Given the description of an element on the screen output the (x, y) to click on. 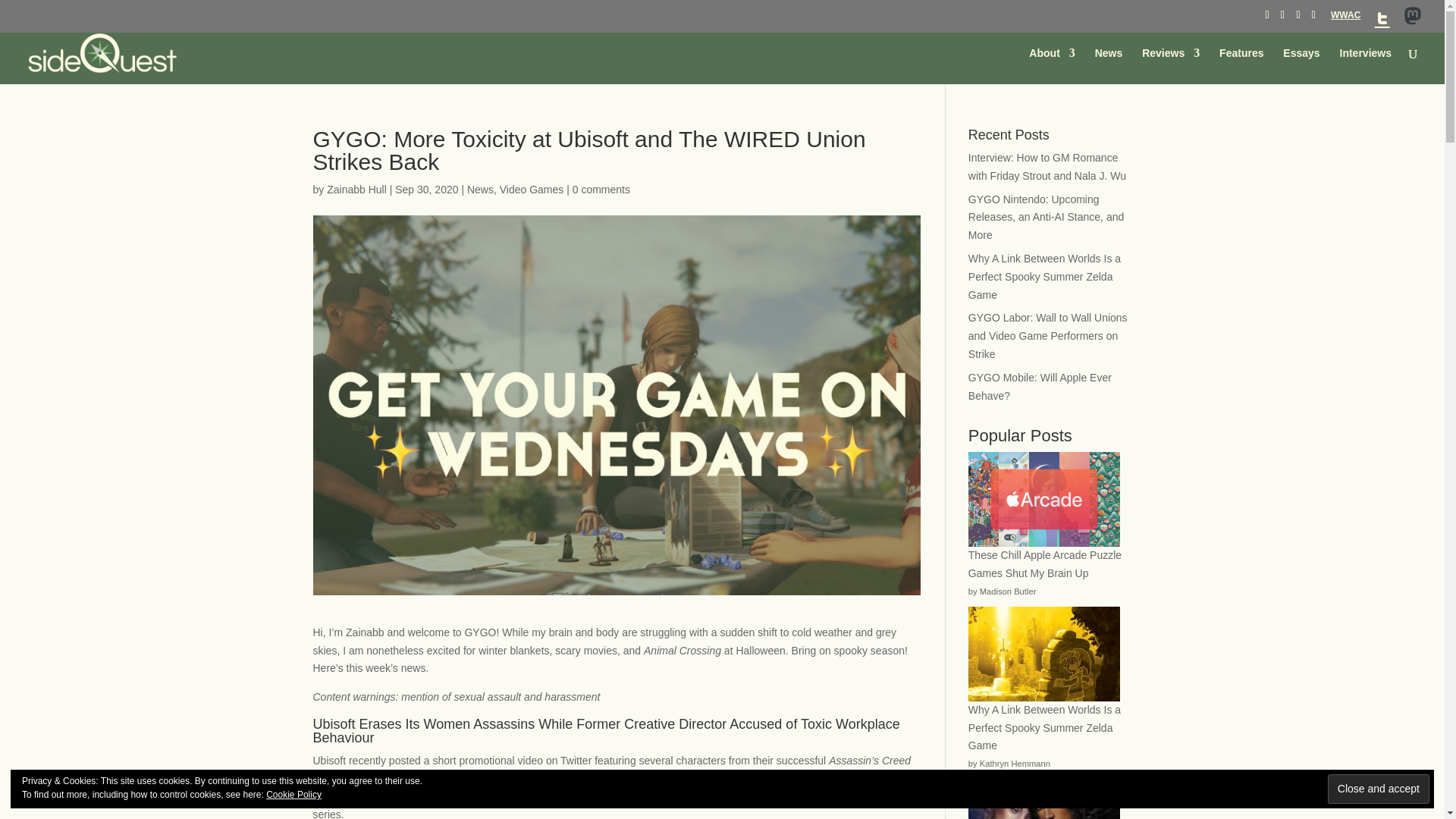
WWAC (1344, 18)
Reviews (1170, 65)
Features (1241, 65)
Video Games (531, 189)
Essays (1300, 65)
Posts by Zainabb Hull (356, 189)
News (480, 189)
Interviews (1365, 65)
Close and accept (1378, 788)
About (1051, 65)
